Given the description of an element on the screen output the (x, y) to click on. 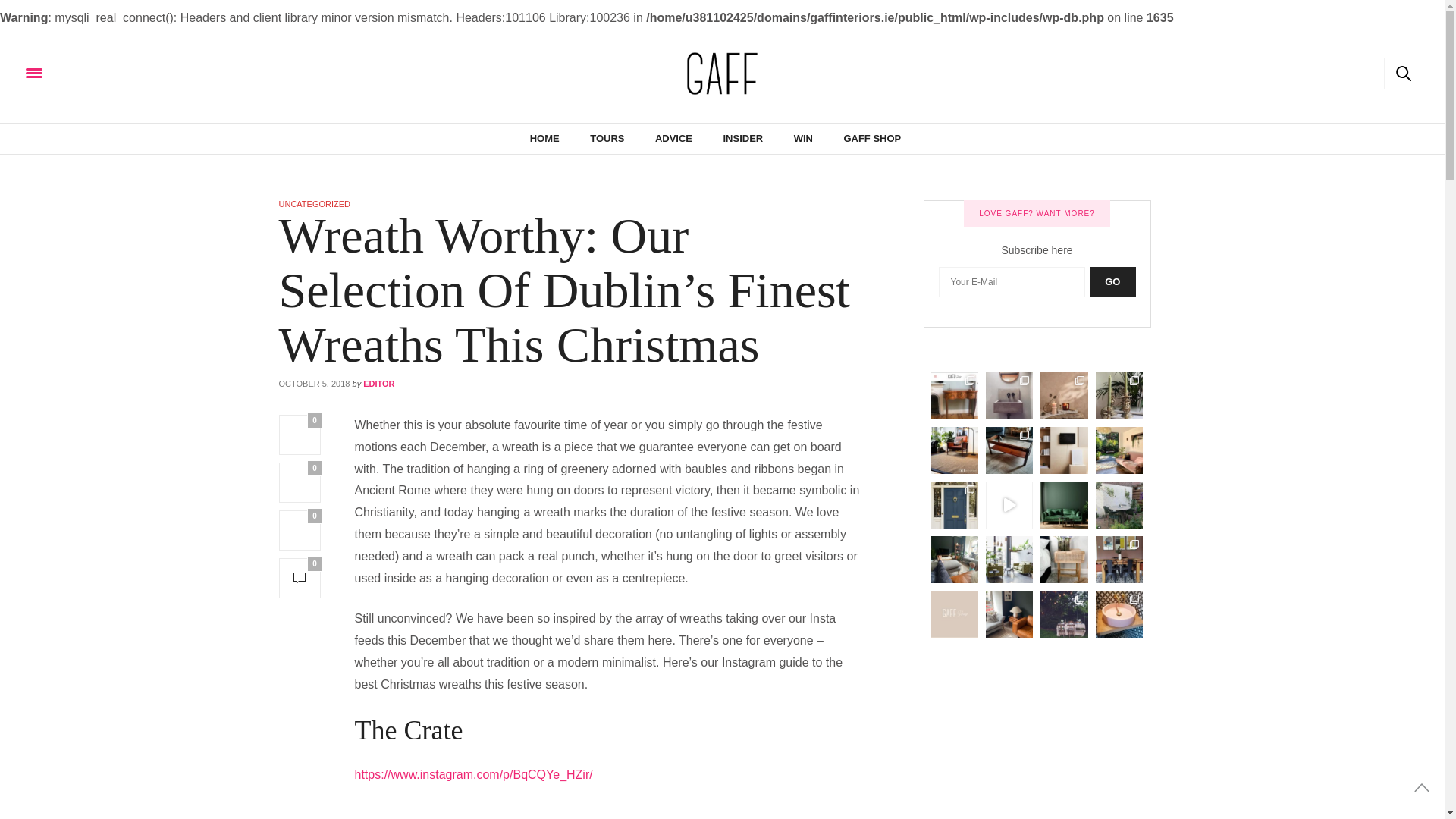
INSIDER (742, 138)
HOME (544, 138)
ADVICE (674, 138)
0 (299, 530)
GAFF SHOP (872, 138)
GAFF Interiors (722, 72)
TOURS (606, 138)
EDITOR (378, 383)
0 (299, 577)
0 (299, 482)
